Given the description of an element on the screen output the (x, y) to click on. 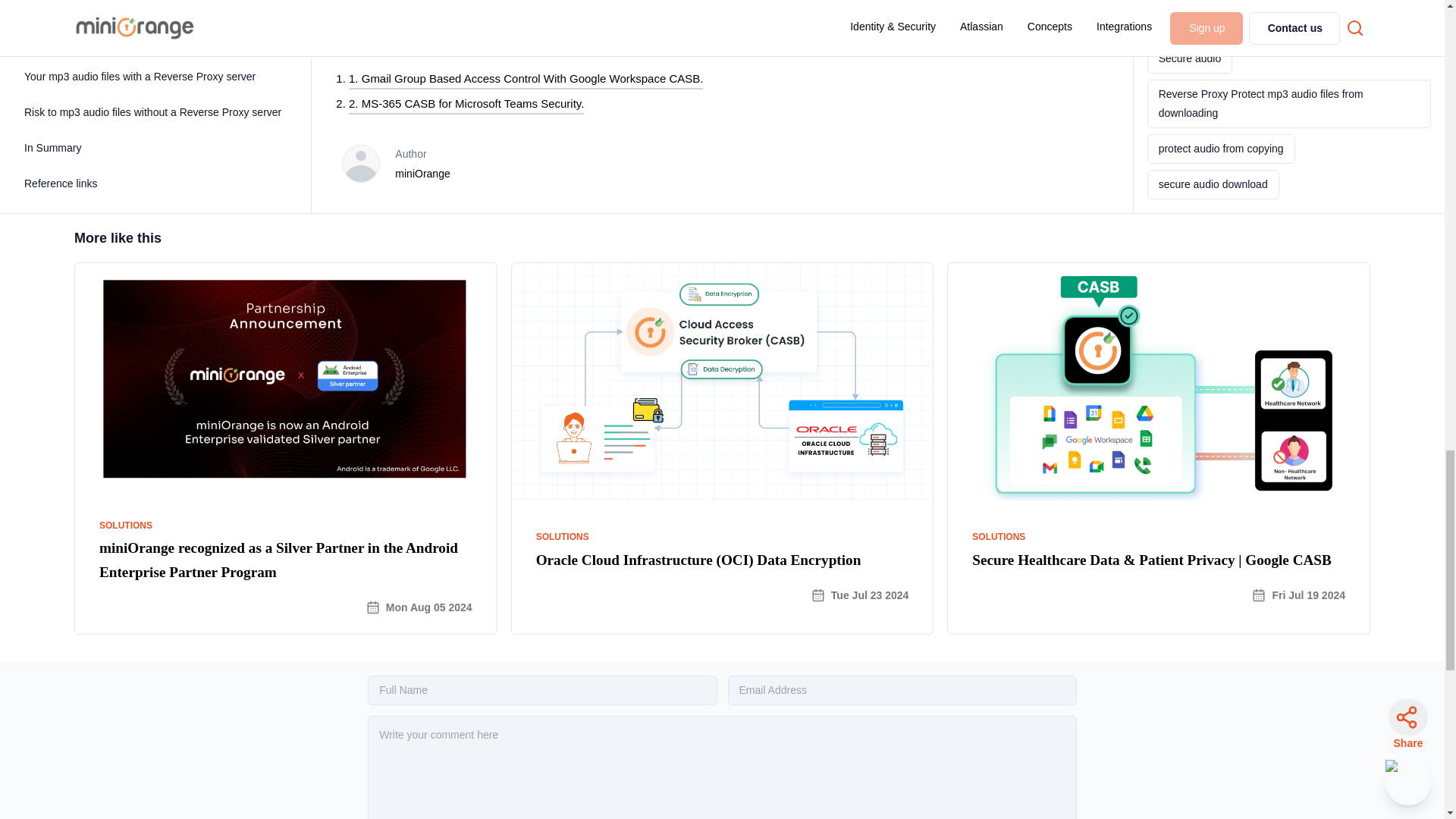
2. MS-365 CASB for Microsoft Teams Security. (466, 104)
